Given the description of an element on the screen output the (x, y) to click on. 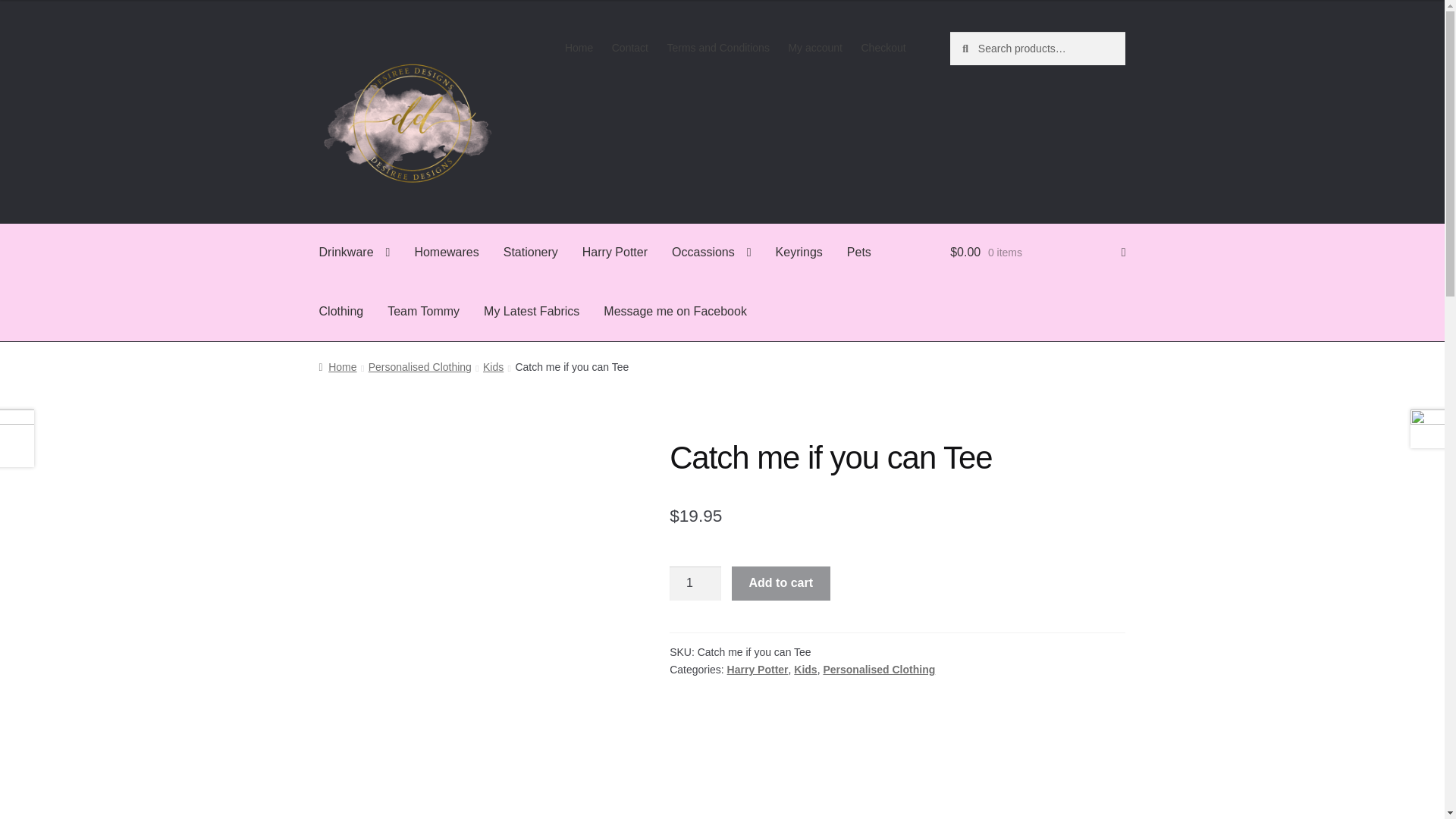
My account (814, 47)
Drinkware (355, 252)
Homewares (445, 252)
View your shopping cart (1037, 252)
Clothing (341, 311)
1 (694, 583)
Contact (630, 47)
Harry Potter (614, 252)
Keyrings (798, 252)
